Given the description of an element on the screen output the (x, y) to click on. 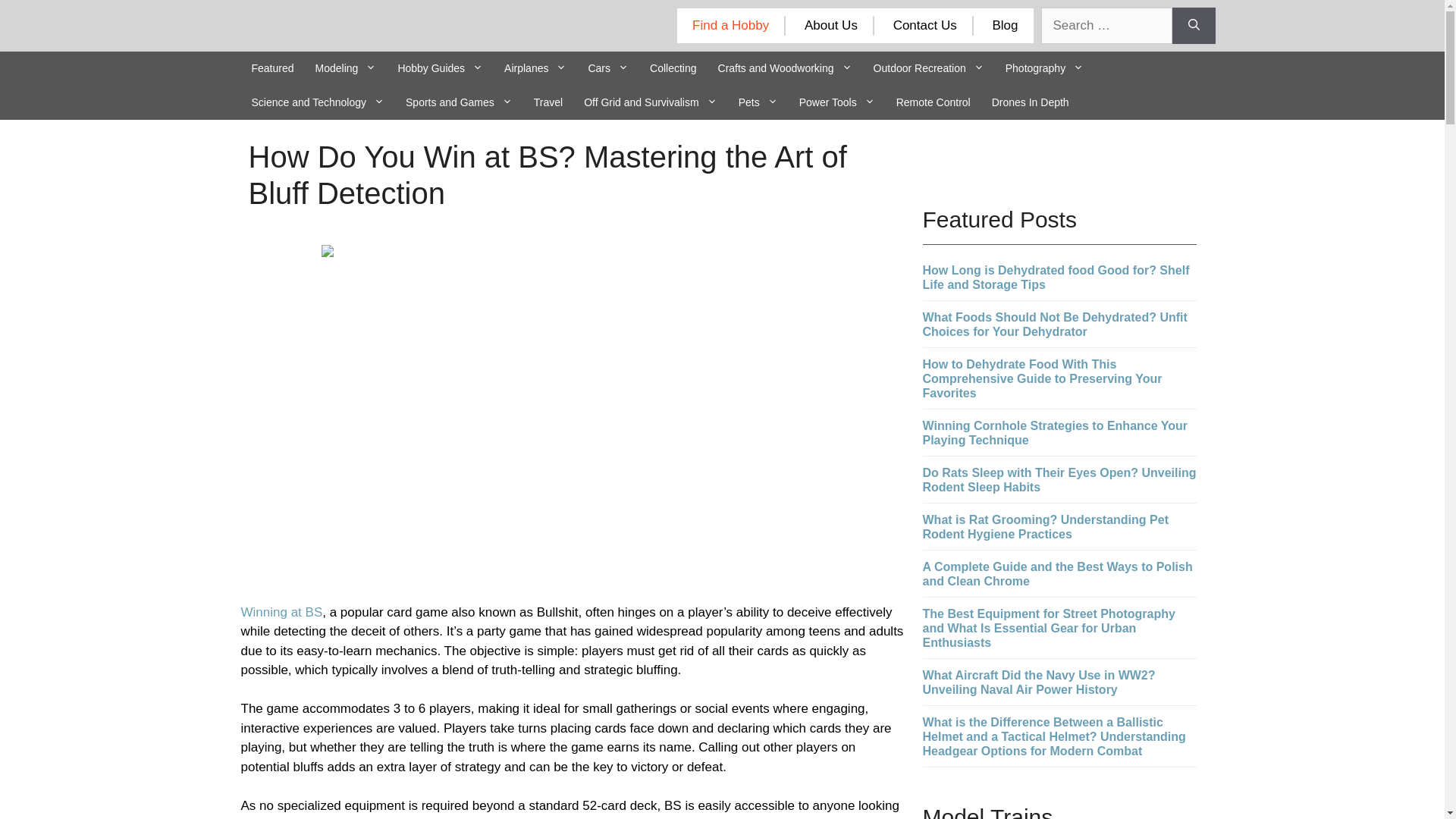
Contact Us (924, 25)
Search for: (1106, 25)
Hobby Guides (440, 68)
Collecting (672, 68)
Airplanes (534, 68)
Crafts and Woodworking (785, 68)
Modeling (345, 68)
Find a Hobby (730, 25)
Blog (1004, 25)
Cars (607, 68)
Featured (272, 68)
About Us (831, 25)
